Given the description of an element on the screen output the (x, y) to click on. 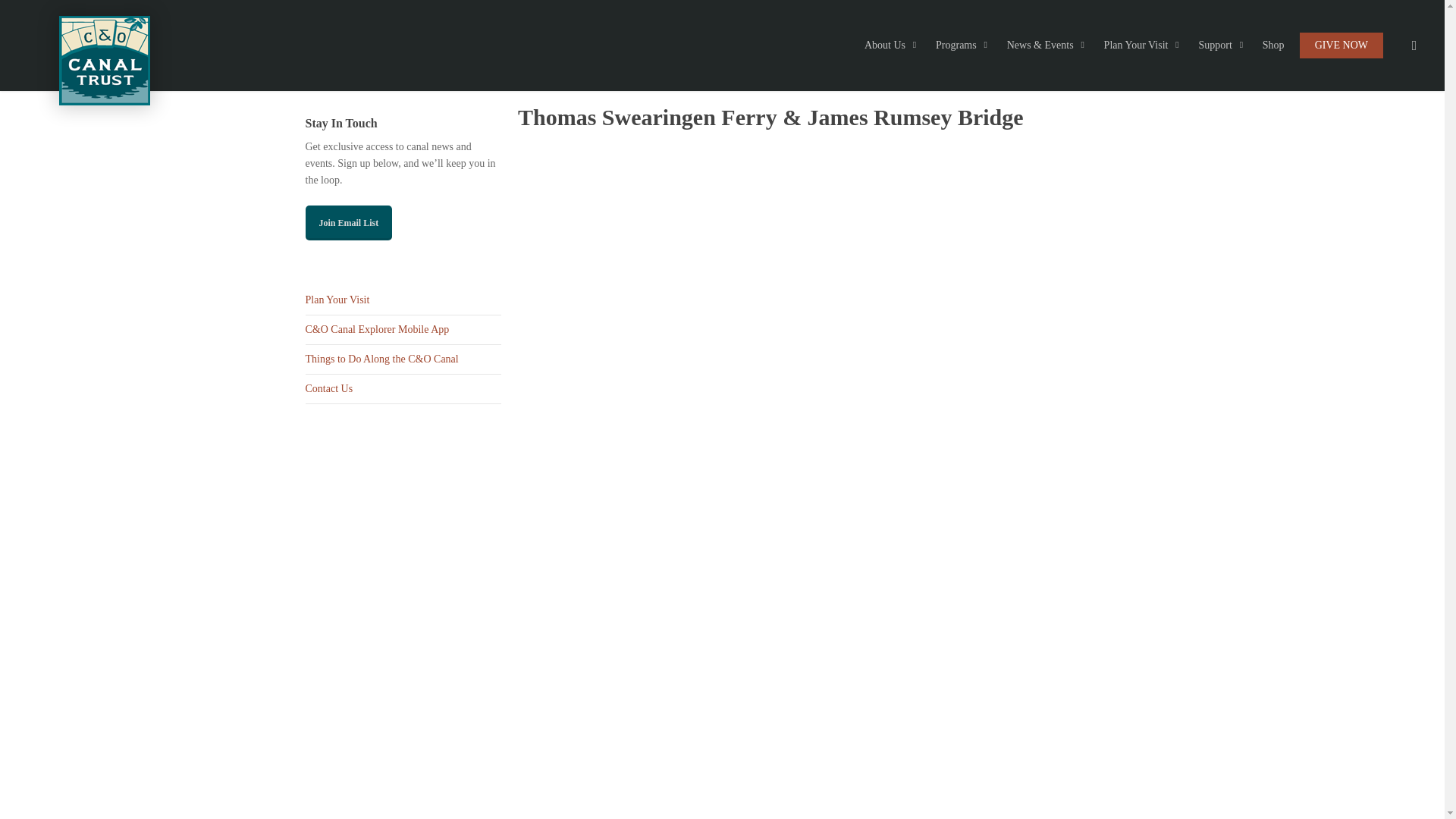
Join Email List (347, 222)
search (1414, 45)
GIVE NOW (1341, 45)
Shop (1273, 45)
Support (1222, 45)
Programs (963, 45)
Plan Your Visit (402, 300)
Plan Your Visit (1143, 45)
About Us (892, 45)
